Given the description of an element on the screen output the (x, y) to click on. 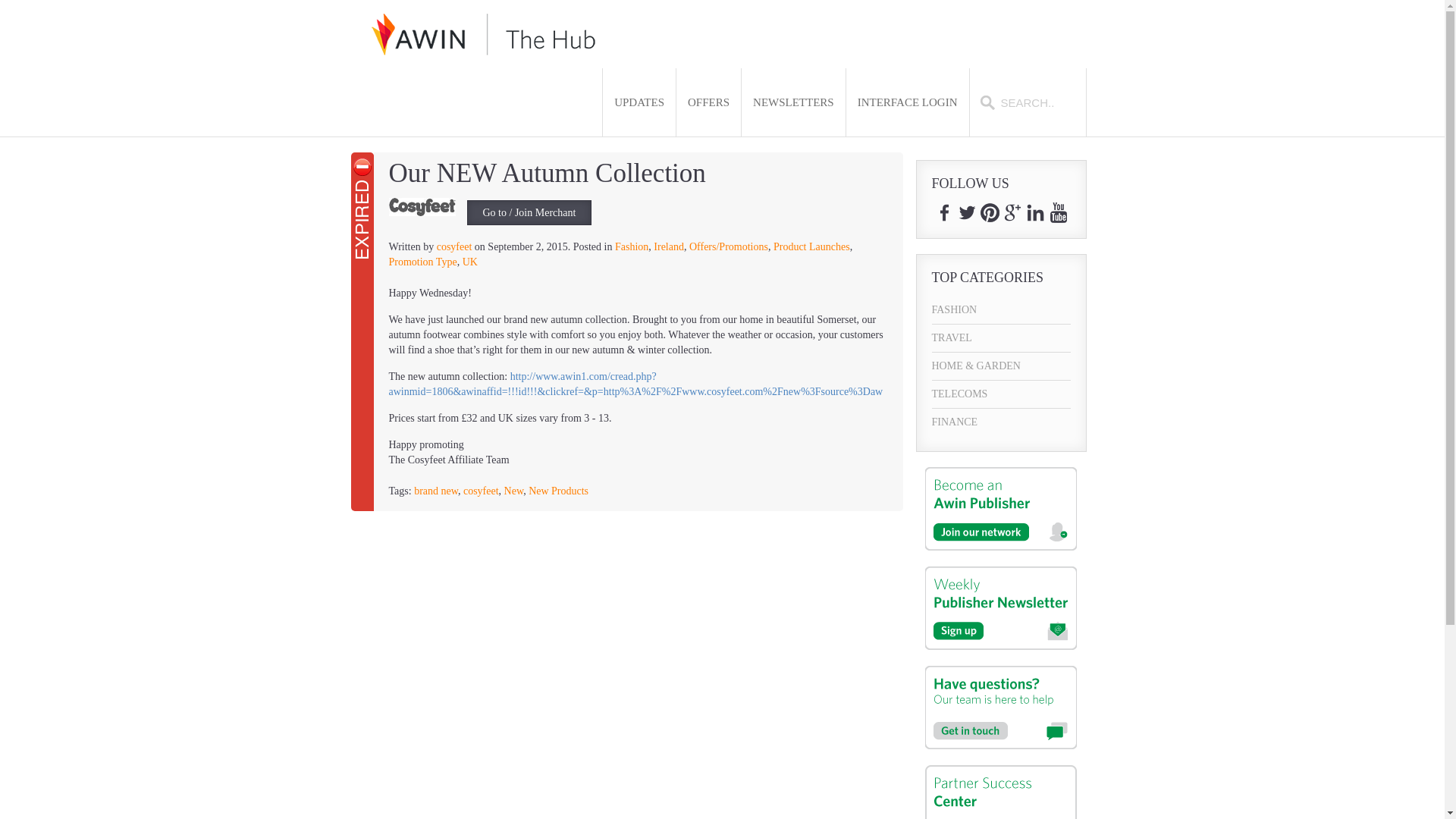
brand new (435, 490)
UPDATES (639, 102)
New Products (558, 490)
FINANCE (1000, 421)
New (513, 490)
NEWSLETTERS (793, 102)
FASHION (1000, 309)
TRAVEL (1000, 338)
TELECOMS (1000, 393)
INTERFACE LOGIN (907, 102)
Promotion Type (422, 261)
OFFERS (708, 102)
Reset (3, 2)
Interface Login (907, 102)
cosyfeet (481, 490)
